Given the description of an element on the screen output the (x, y) to click on. 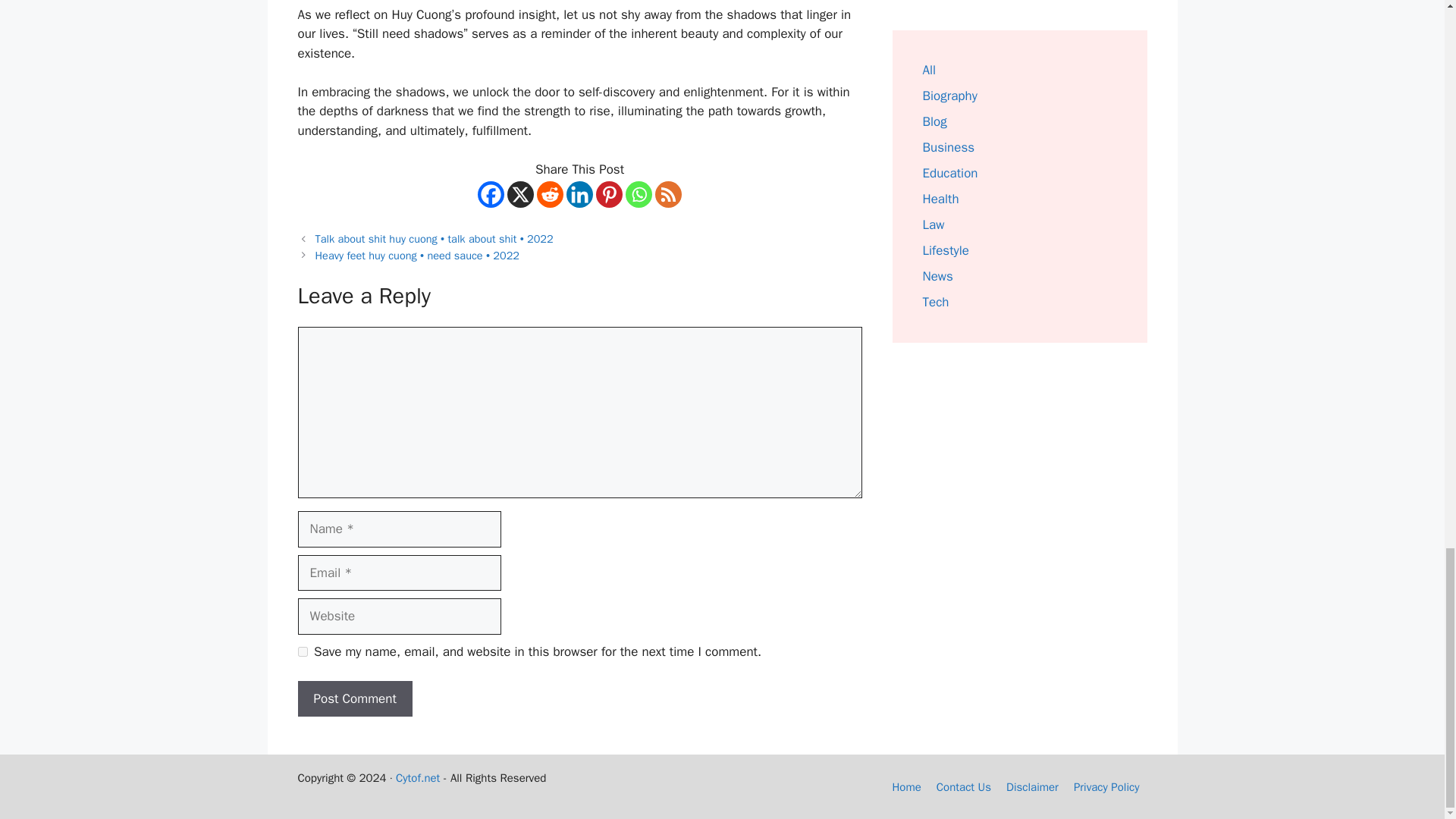
Whatsapp (639, 194)
Facebook (490, 194)
Post Comment (354, 698)
RSS Feed (668, 194)
X (520, 194)
Post Comment (354, 698)
Reddit (550, 194)
Pinterest (609, 194)
Linkedin (579, 194)
yes (302, 651)
